Given the description of an element on the screen output the (x, y) to click on. 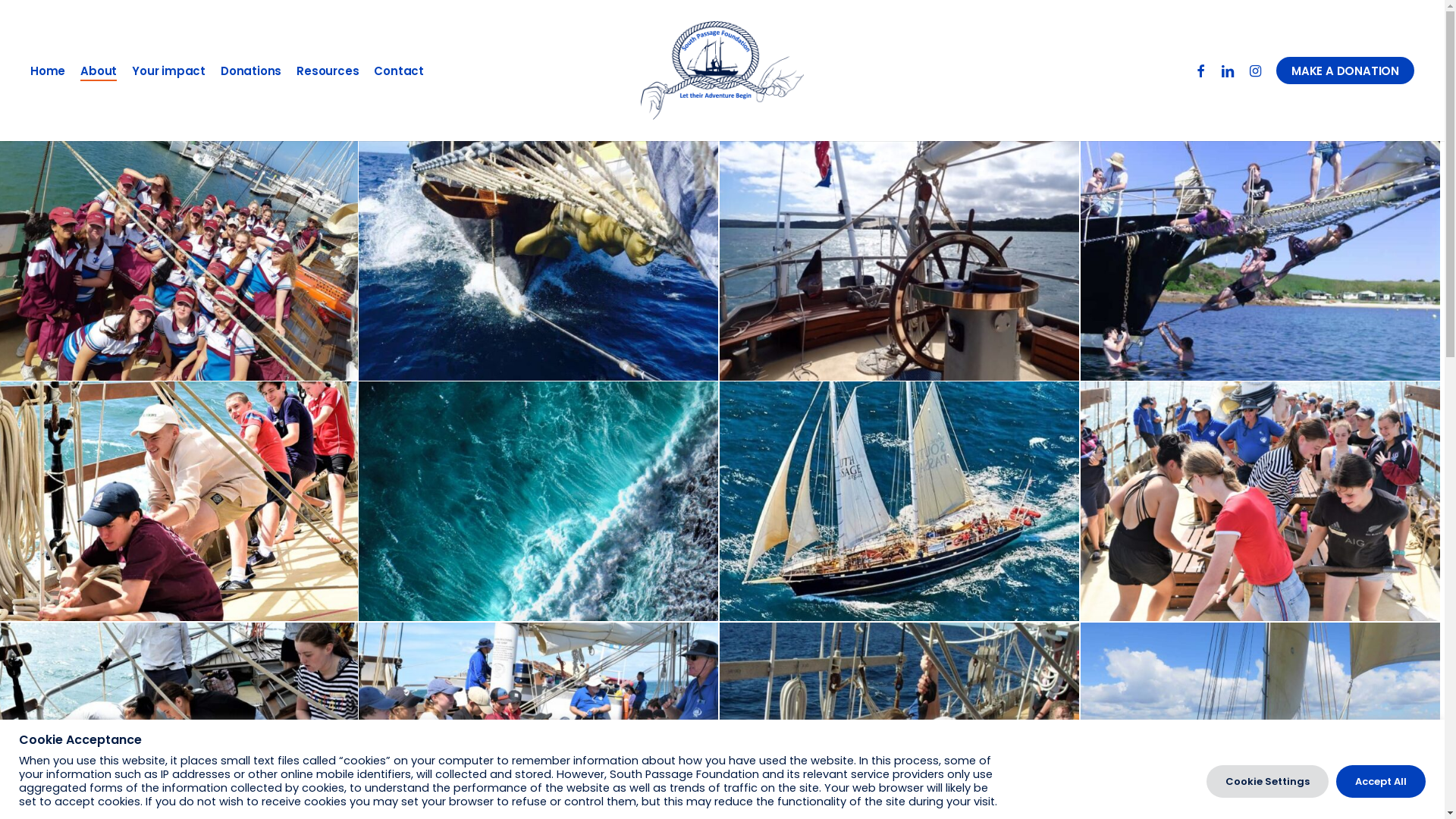
Accept All Element type: text (1380, 780)
instagram Element type: text (1254, 70)
bow-surf Element type: hover (538, 260)
Brass Element type: hover (899, 260)
Home Element type: text (47, 70)
linkedin Element type: text (1227, 70)
IMG_3113-cropped Element type: hover (899, 501)
facebook Element type: text (1200, 70)
gatis-marcinkevics-a5uptAdUmjE-unsplash-1-min-1024x768 Element type: hover (538, 501)
MAKE A DONATION Element type: text (1345, 70)
Resources Element type: text (327, 70)
Contact Element type: text (398, 70)
Diving-in Element type: hover (1260, 260)
Your impact Element type: text (168, 70)
About Element type: text (98, 70)
Donations Element type: text (250, 70)
img1-1024x576 Element type: hover (1260, 501)
Cookie Settings Element type: text (1267, 780)
